Given the description of an element on the screen output the (x, y) to click on. 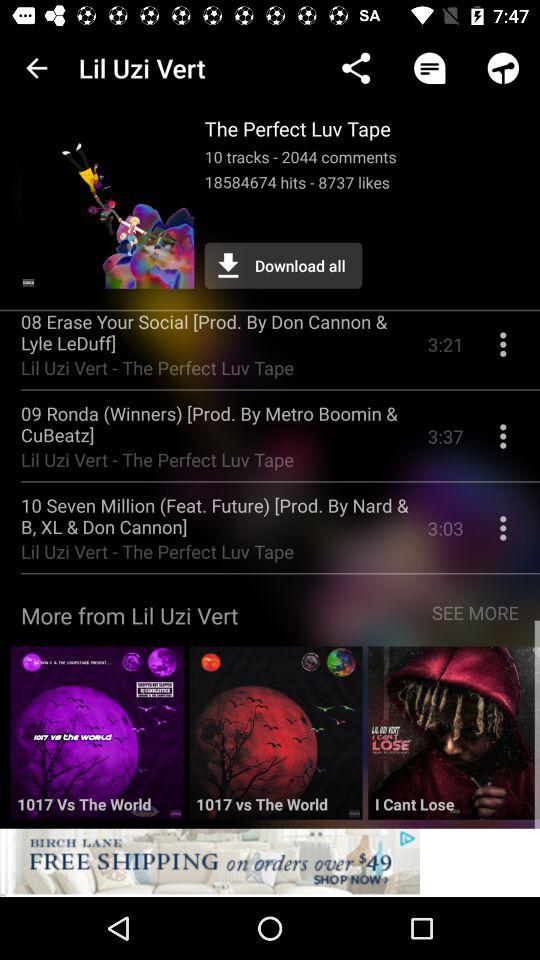
open music album (96, 740)
